Given the description of an element on the screen output the (x, y) to click on. 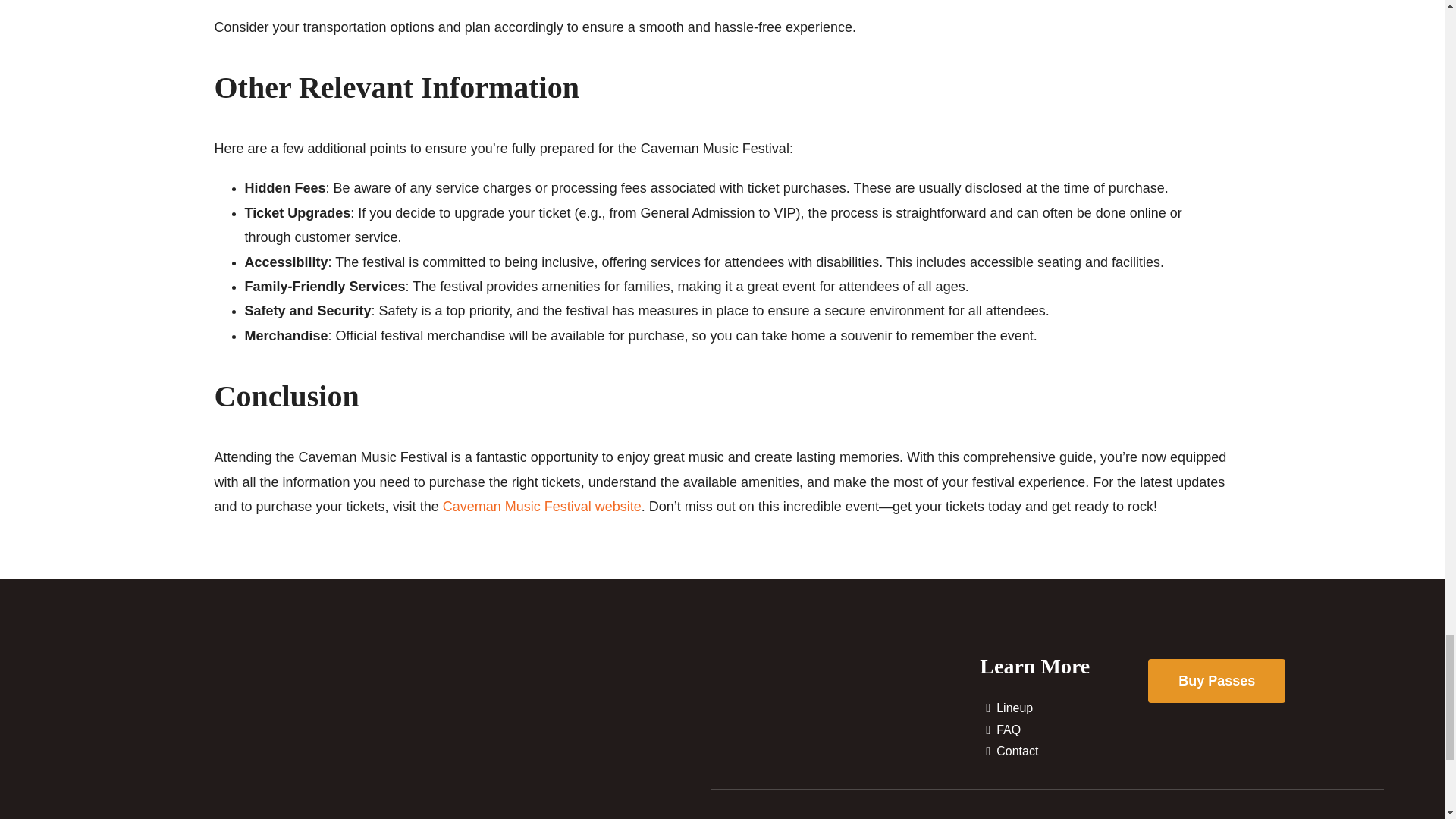
Buy Passes (1216, 680)
Lineup (1063, 708)
Caveman Music Festival website (542, 506)
FAQ (1063, 730)
Contact (1063, 751)
